Given the description of an element on the screen output the (x, y) to click on. 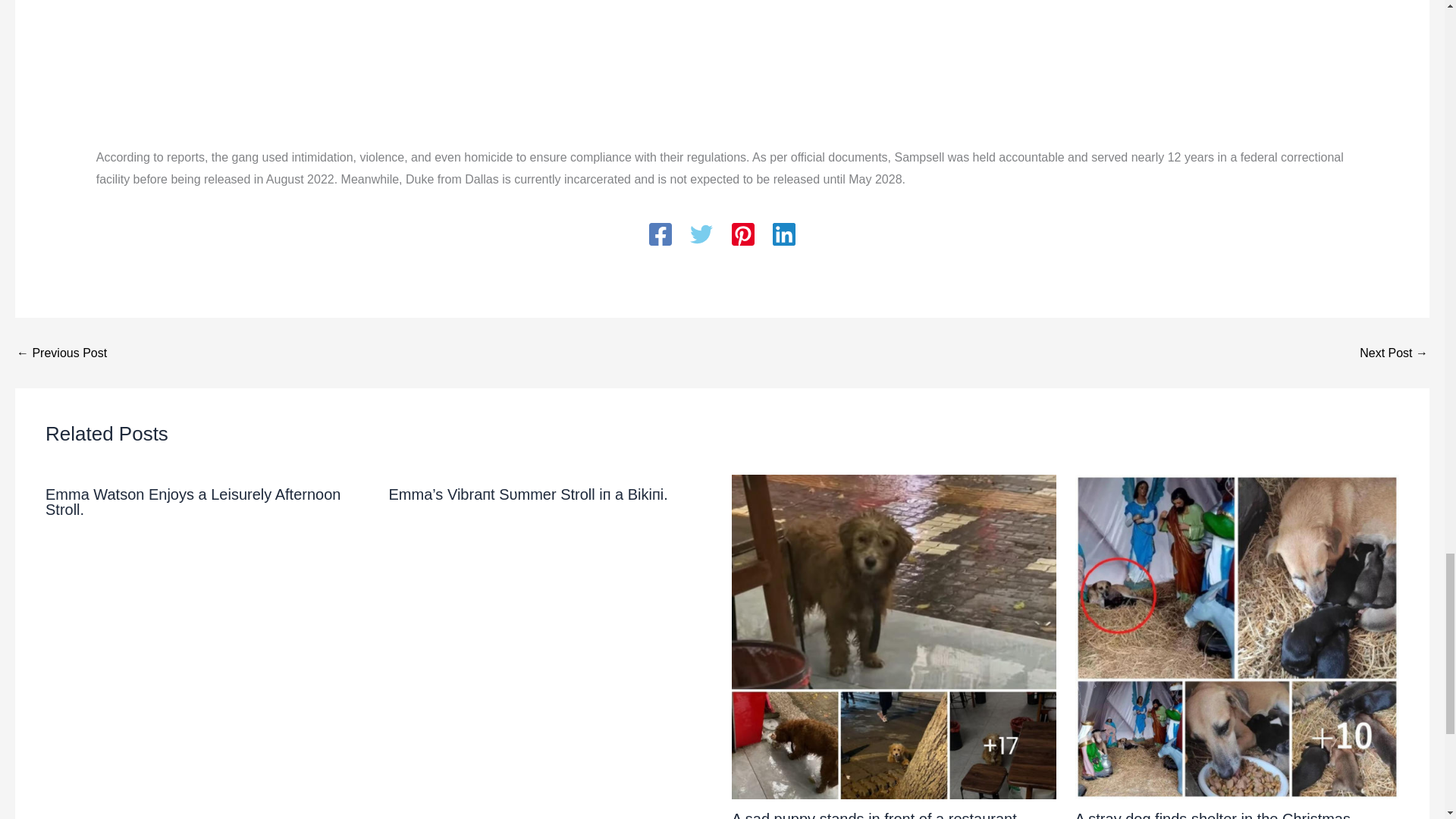
Emma Watson Enjoys a Leisurely Afternoon Stroll. (192, 501)
